Given the description of an element on the screen output the (x, y) to click on. 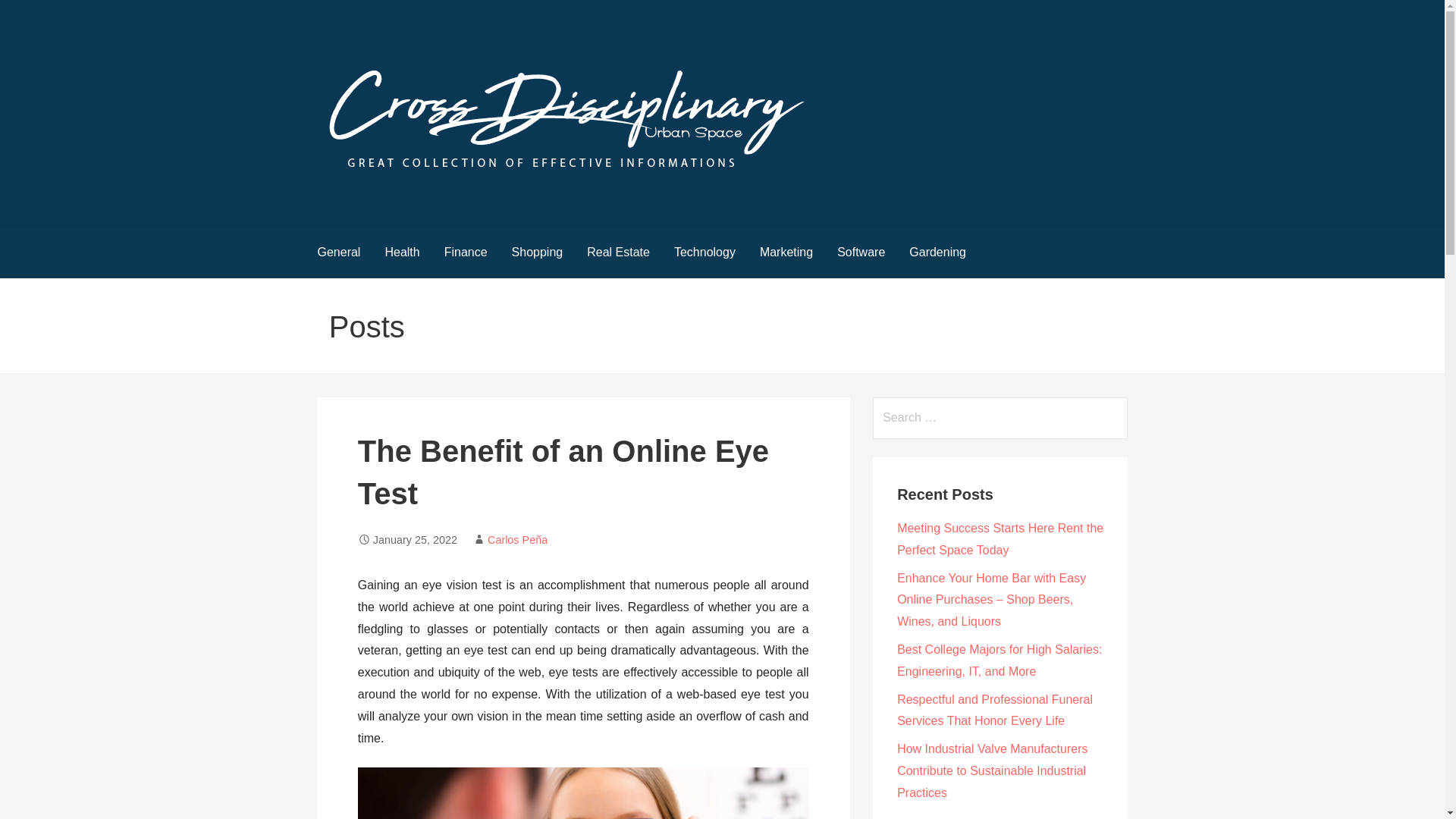
General (338, 252)
Meeting Success Starts Here Rent the Perfect Space Today (999, 538)
Finance (465, 252)
Search (31, 15)
Shopping (537, 252)
Gardening (937, 252)
Health (401, 252)
Technology (705, 252)
